Given the description of an element on the screen output the (x, y) to click on. 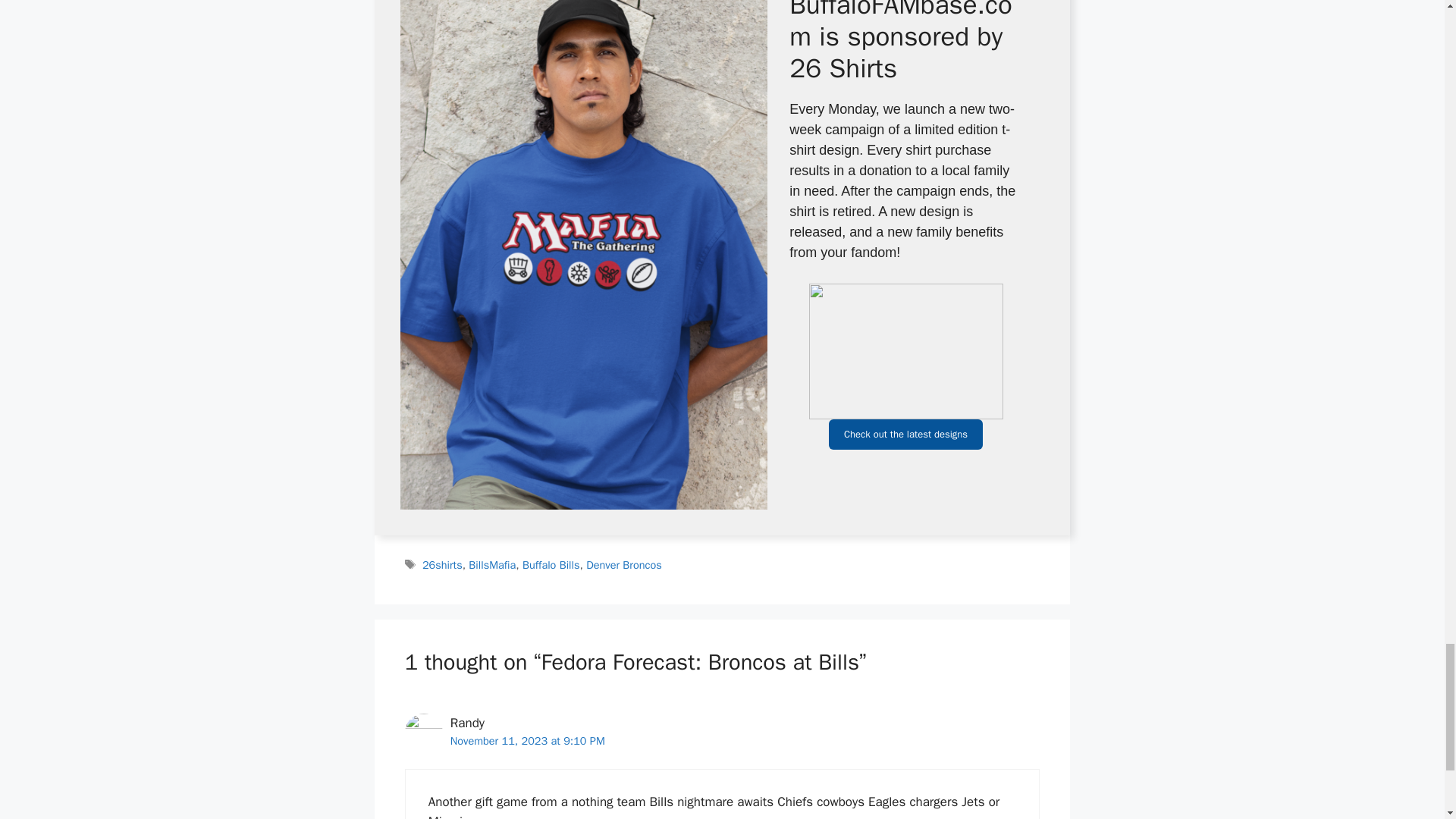
Denver Broncos (623, 564)
BillsMafia (491, 564)
November 11, 2023 at 9:10 PM (527, 740)
Check out the latest designs (905, 434)
Buffalo Bills (550, 564)
26shirts (442, 564)
